Given the description of an element on the screen output the (x, y) to click on. 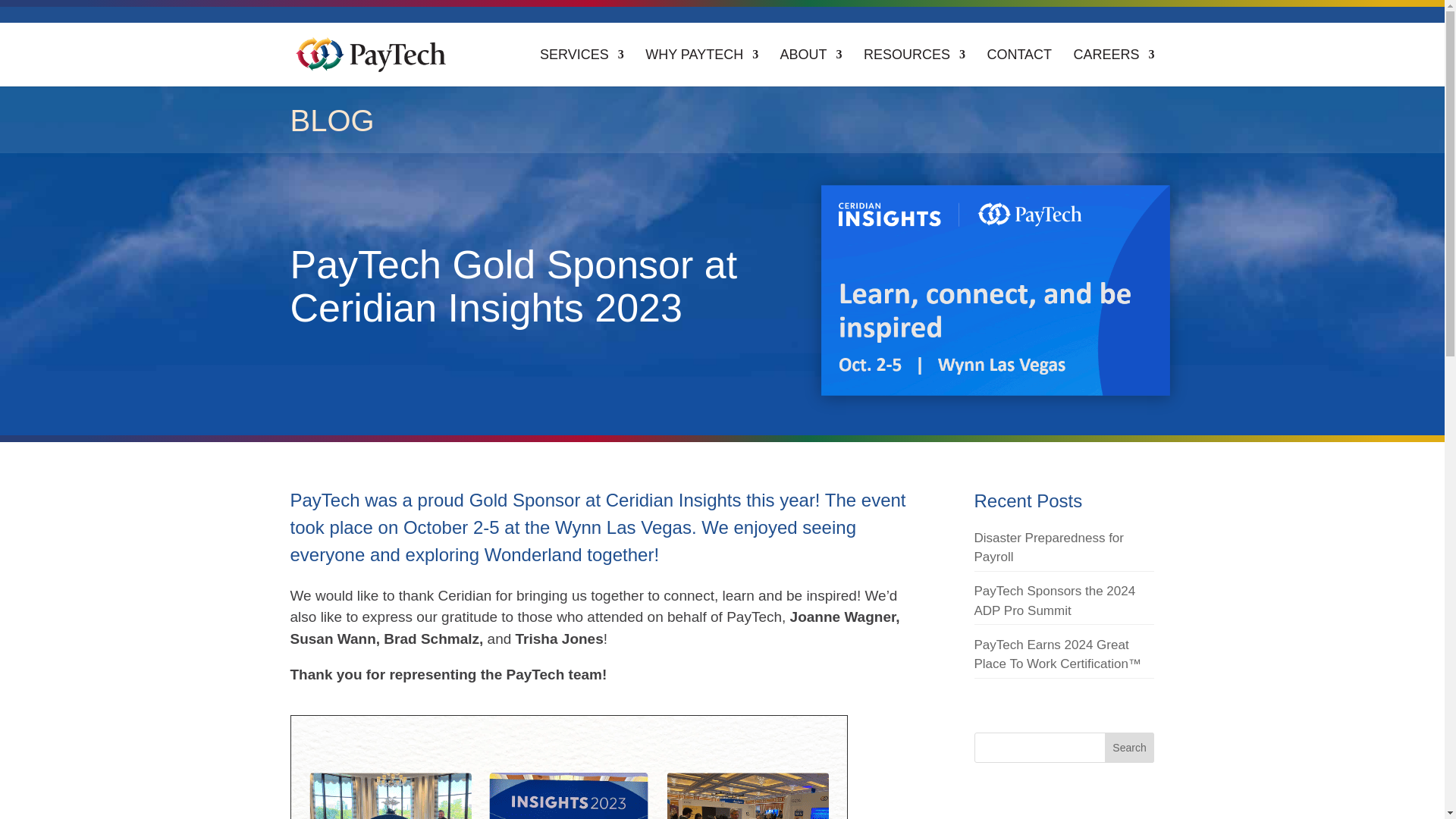
WHY PAYTECH (701, 67)
PayTech Gold Sponsor at Ceridian Insights 2023 (979, 280)
CONTACT (1019, 67)
RESOURCES (914, 67)
PayTech Payroll Blog (331, 120)
ABOUT (811, 67)
CAREERS (1113, 67)
SERVICES (582, 67)
Search (1129, 747)
